Given the description of an element on the screen output the (x, y) to click on. 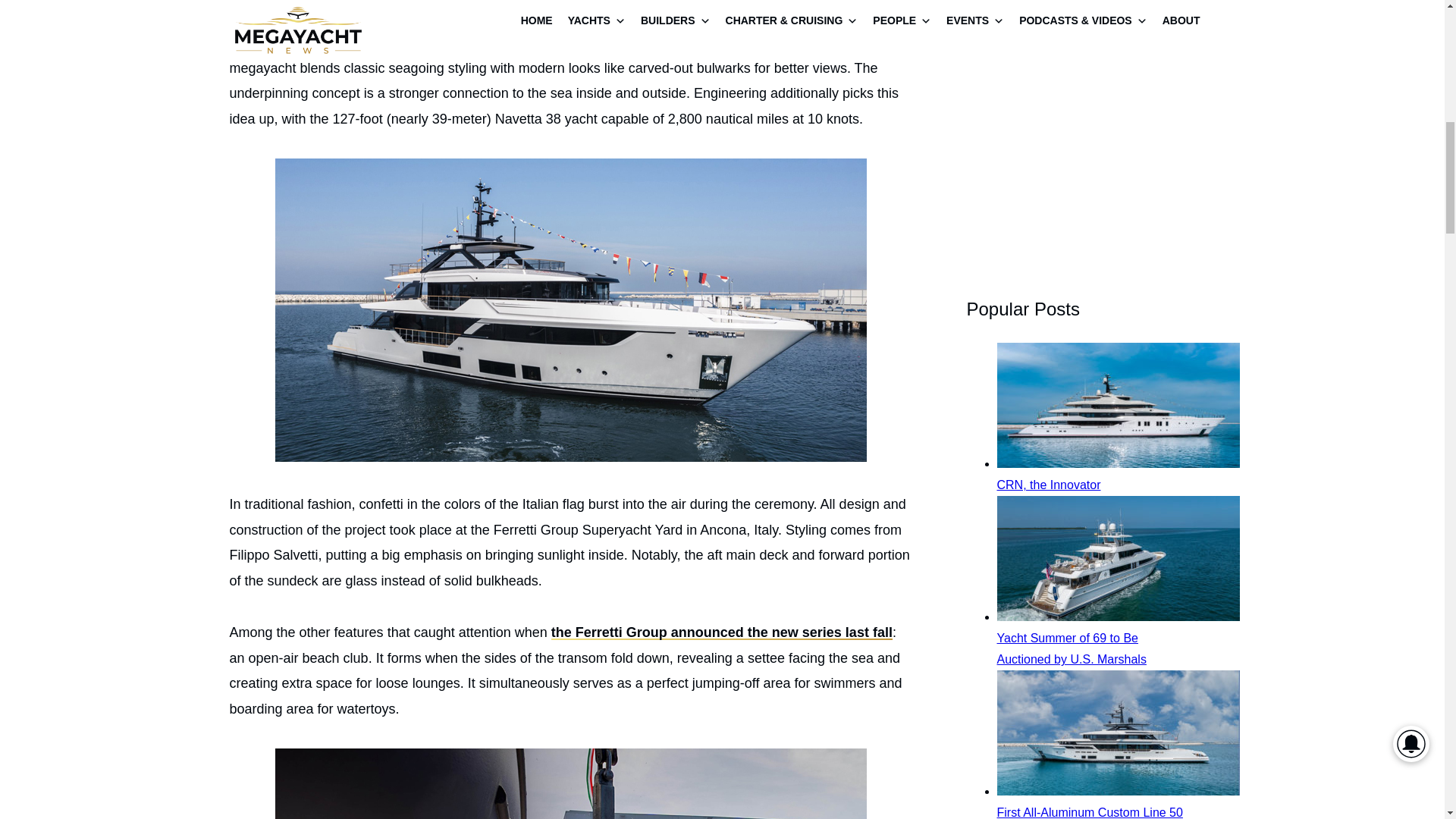
3rd party ad content (1078, 133)
